Given the description of an element on the screen output the (x, y) to click on. 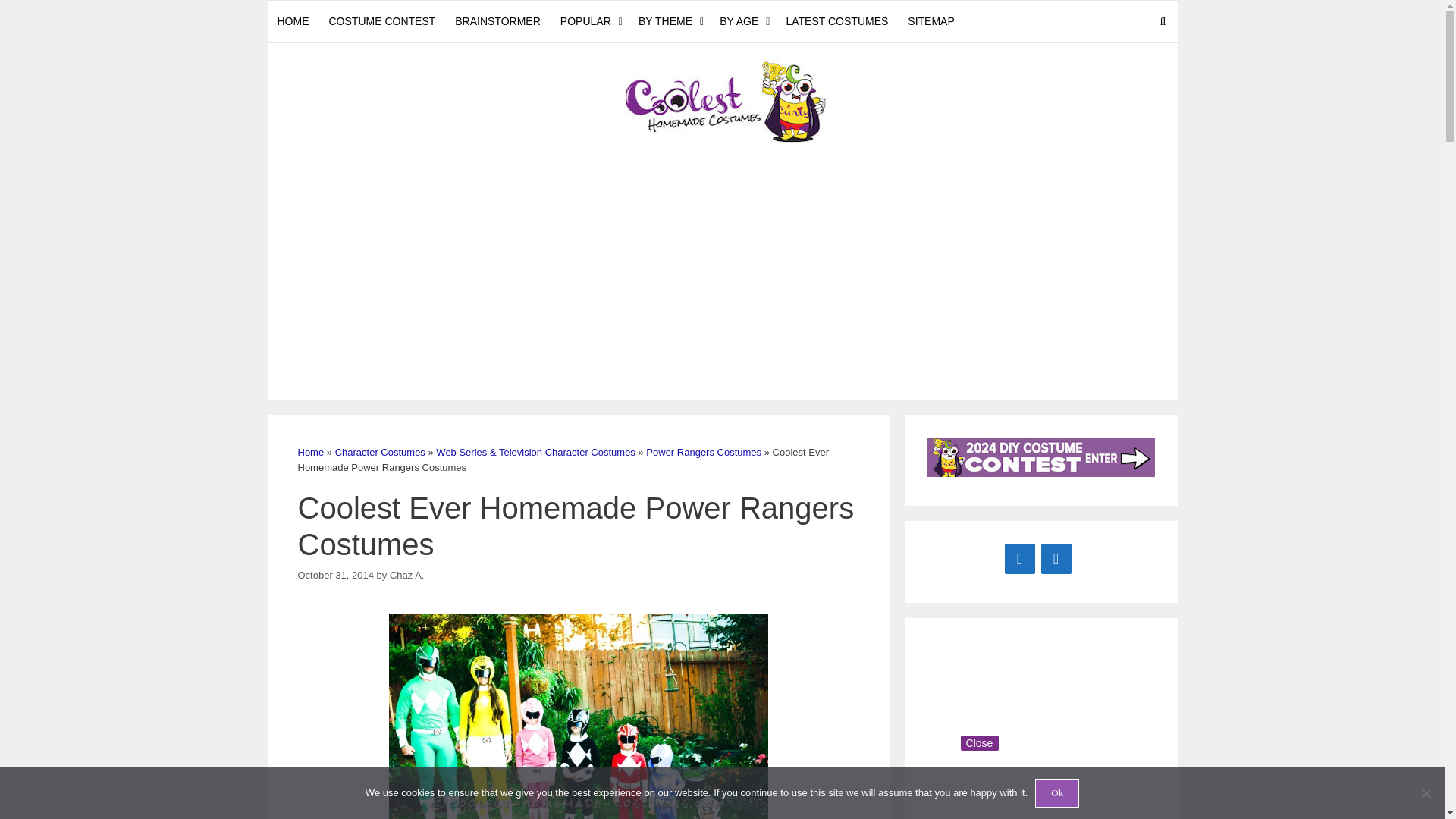
Facebook (1018, 557)
HOME (292, 21)
BY AGE (743, 21)
SITEMAP (930, 21)
BY THEME (669, 21)
BRAINSTORMER (497, 21)
LATEST COSTUMES (837, 21)
POPULAR (589, 21)
COSTUME CONTEST (381, 21)
Instagram (1055, 557)
View all posts by Chaz A. (407, 573)
